Given the description of an element on the screen output the (x, y) to click on. 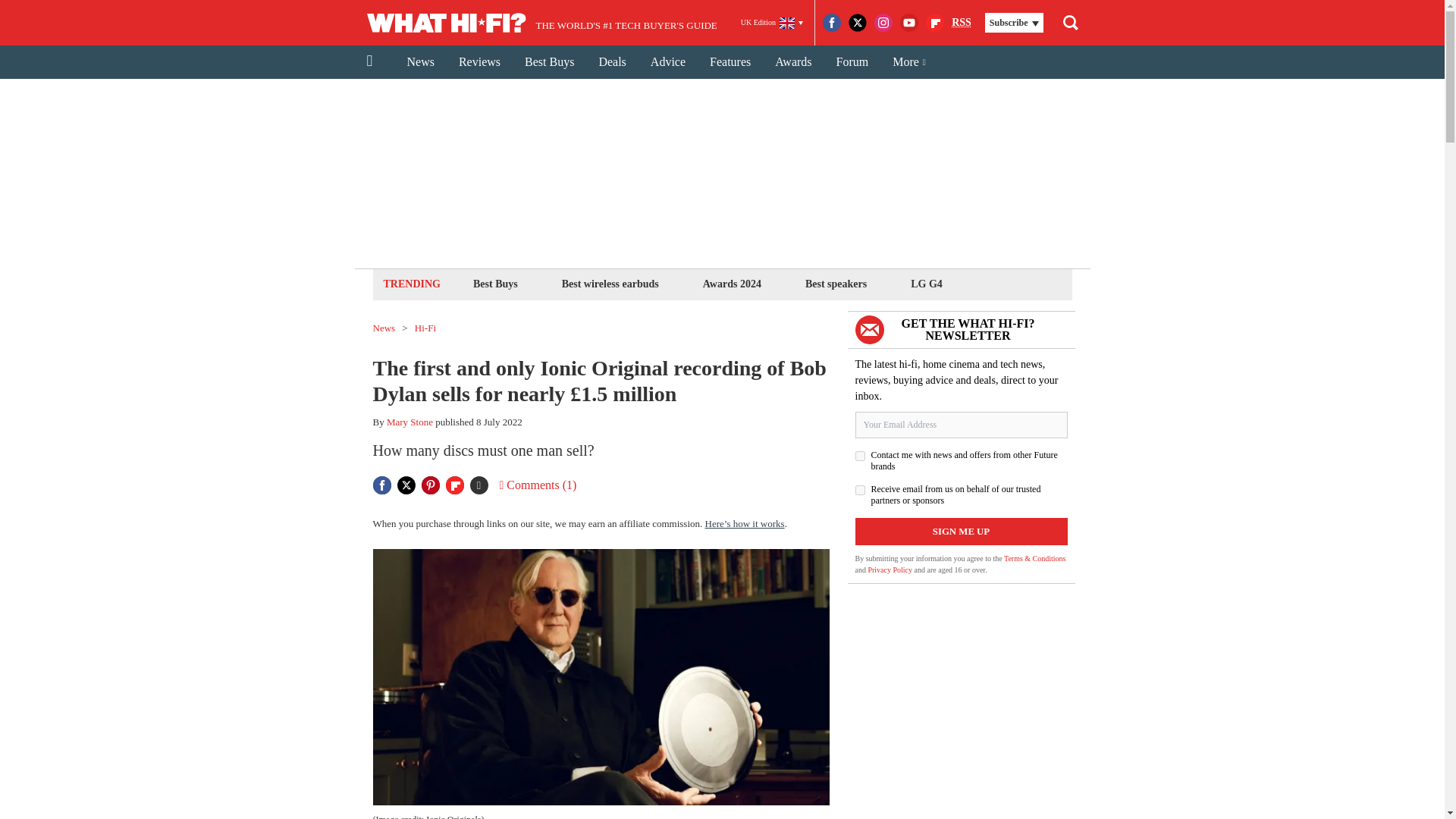
Features (729, 61)
Best wireless earbuds (609, 283)
on (860, 490)
Mary Stone (409, 421)
Reviews (479, 61)
Forum (852, 61)
Deals (611, 61)
News (419, 61)
Advice (668, 61)
Best Buys (549, 61)
